Given the description of an element on the screen output the (x, y) to click on. 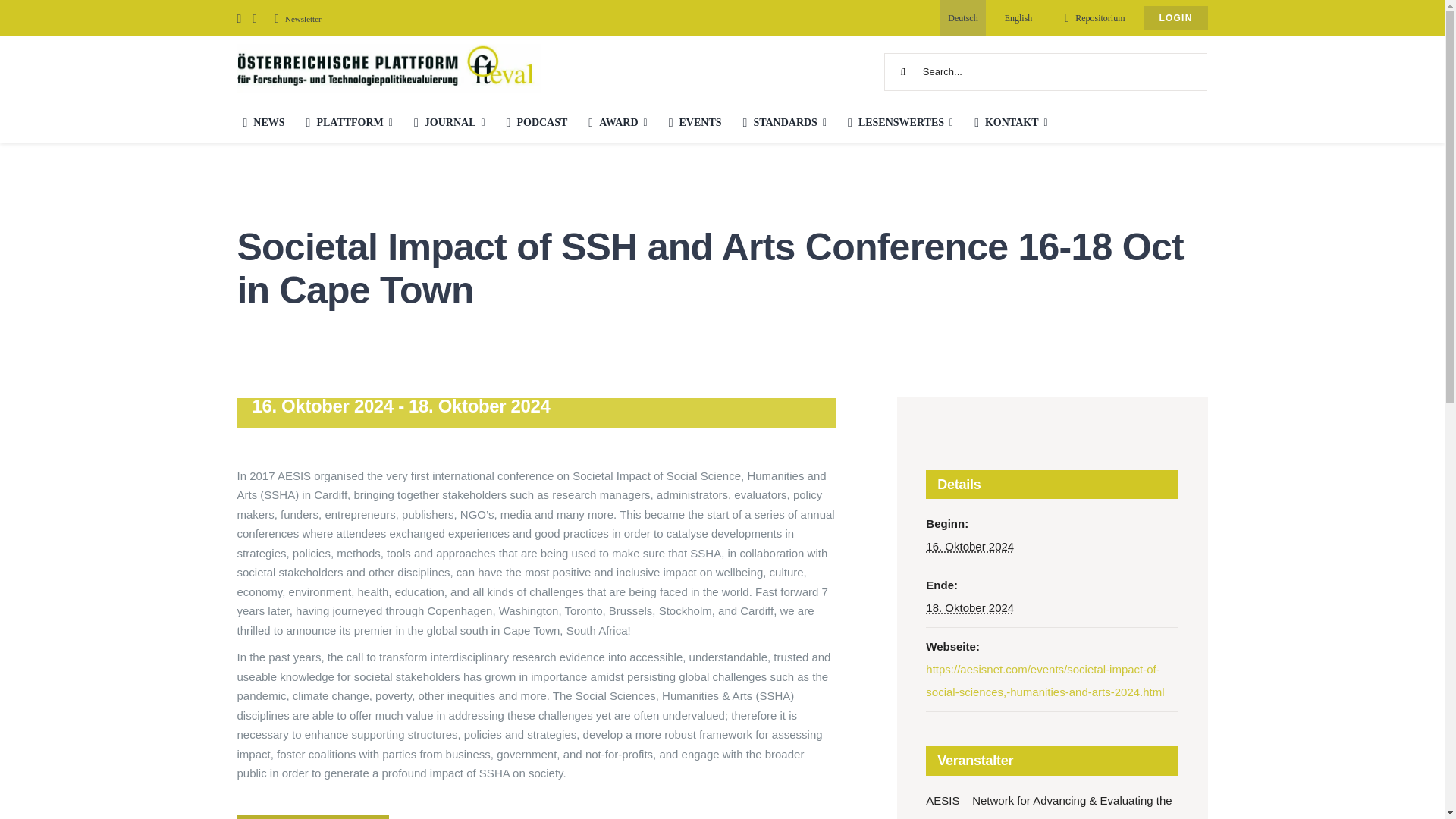
2024-10-18 (969, 607)
English (1019, 18)
PODCAST (533, 120)
LOGIN (1174, 18)
English (1019, 18)
Deutsch (962, 18)
2024-10-16 (969, 545)
Deutsch (962, 18)
Newsletter (294, 19)
PLATTFORM (346, 120)
